Given the description of an element on the screen output the (x, y) to click on. 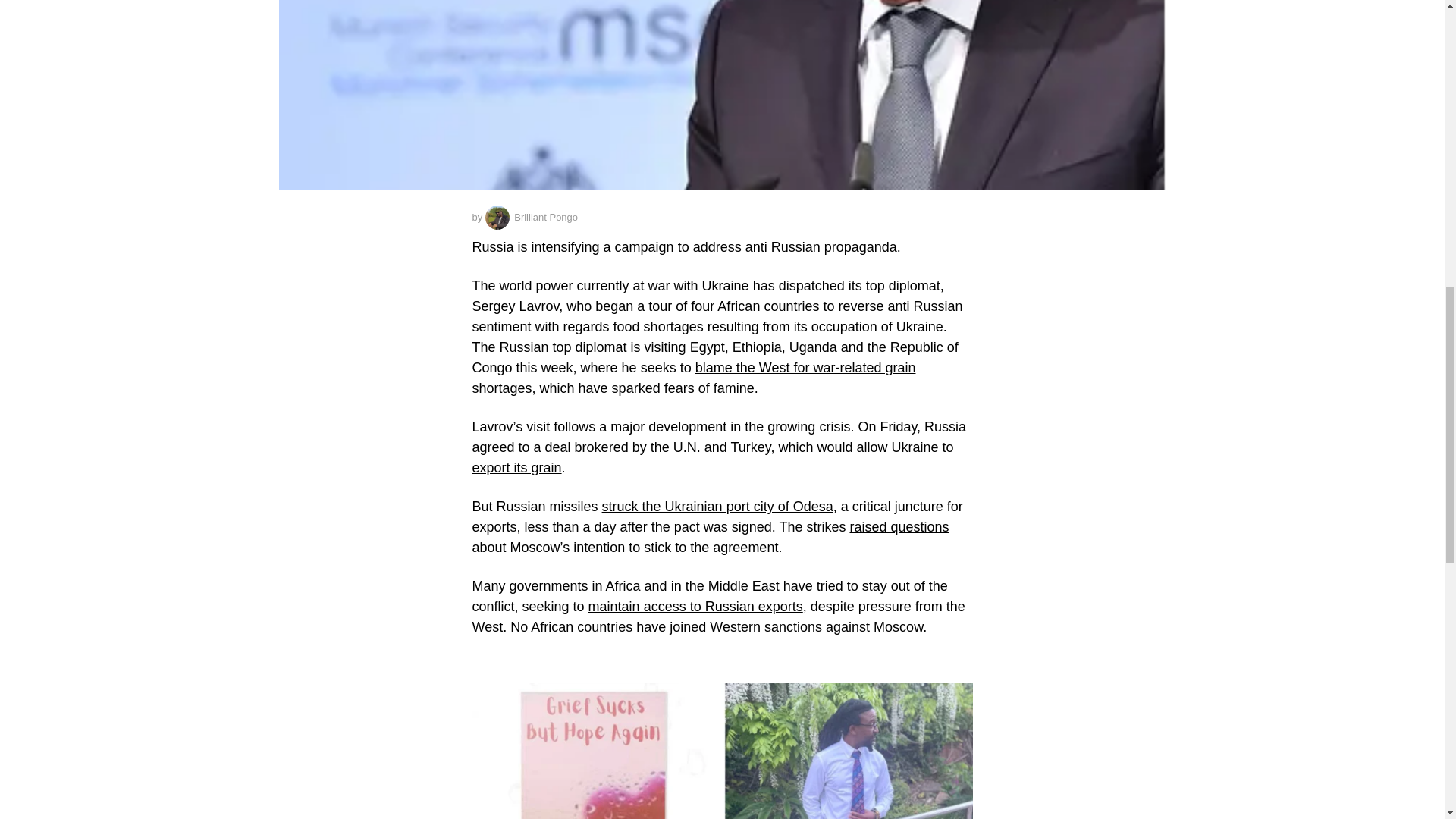
Brilliant Pongo (531, 217)
